Given the description of an element on the screen output the (x, y) to click on. 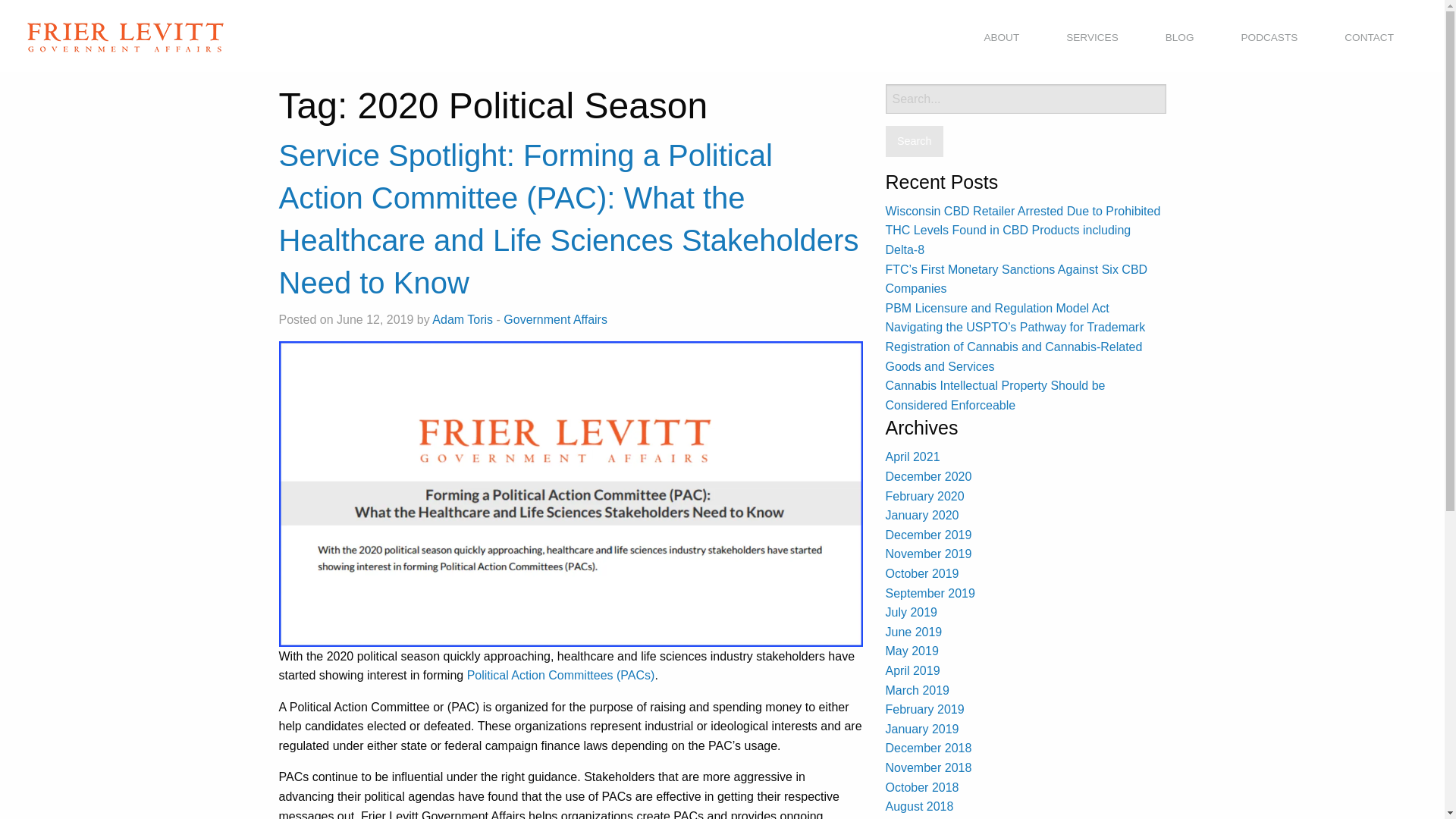
December 2020 (928, 476)
Posts by Adam Toris (462, 318)
January 2020 (922, 514)
Government Affairs (555, 318)
ABOUT (1000, 37)
November 2019 (928, 553)
PBM Licensure and Regulation Model Act (997, 308)
February 2020 (924, 495)
December 2019 (928, 534)
Adam Toris (462, 318)
